Given the description of an element on the screen output the (x, y) to click on. 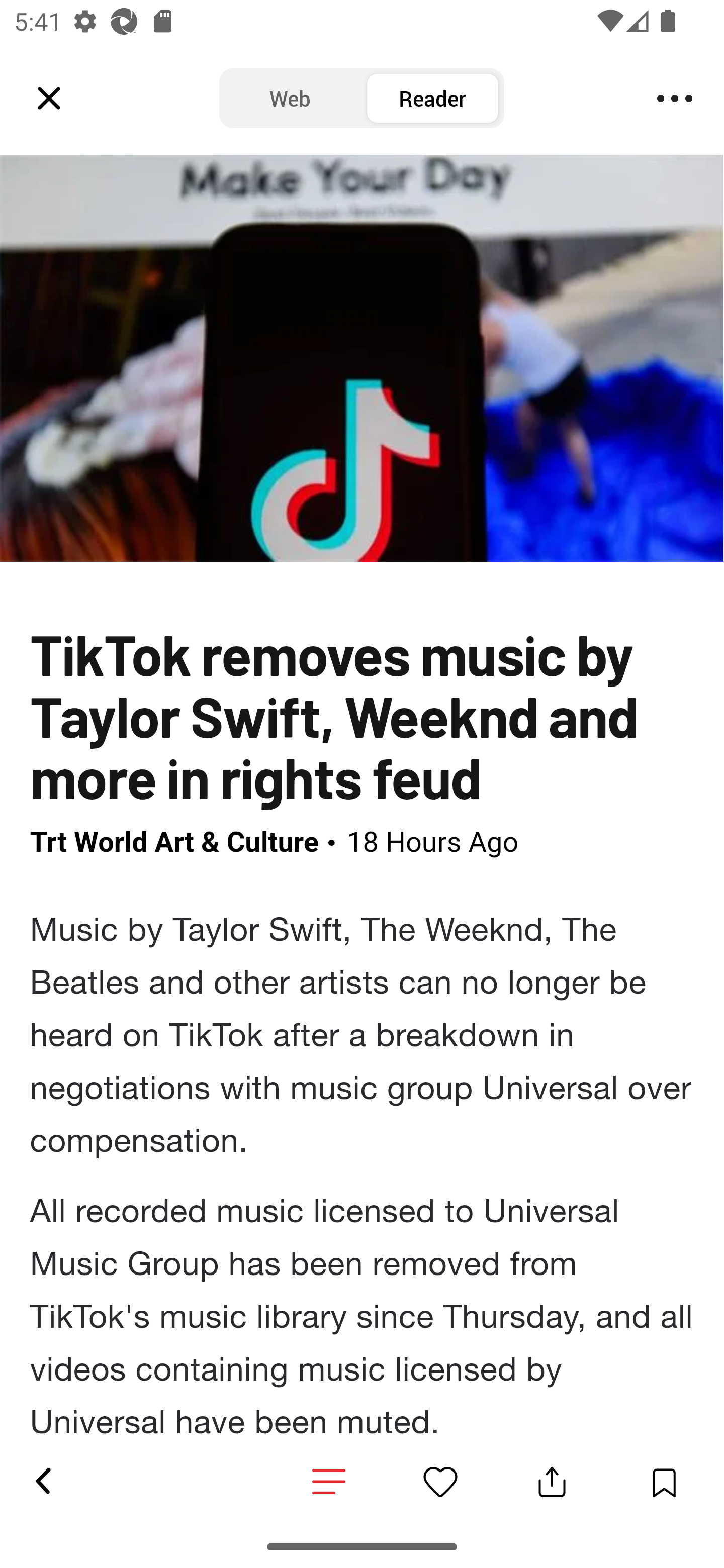
Web (290, 98)
Menu (674, 98)
Leading Icon (49, 98)
Back Button (42, 1481)
News Detail Emotion (440, 1481)
Share Button (551, 1481)
Save Button (663, 1481)
News Detail Emotion (329, 1482)
